Given the description of an element on the screen output the (x, y) to click on. 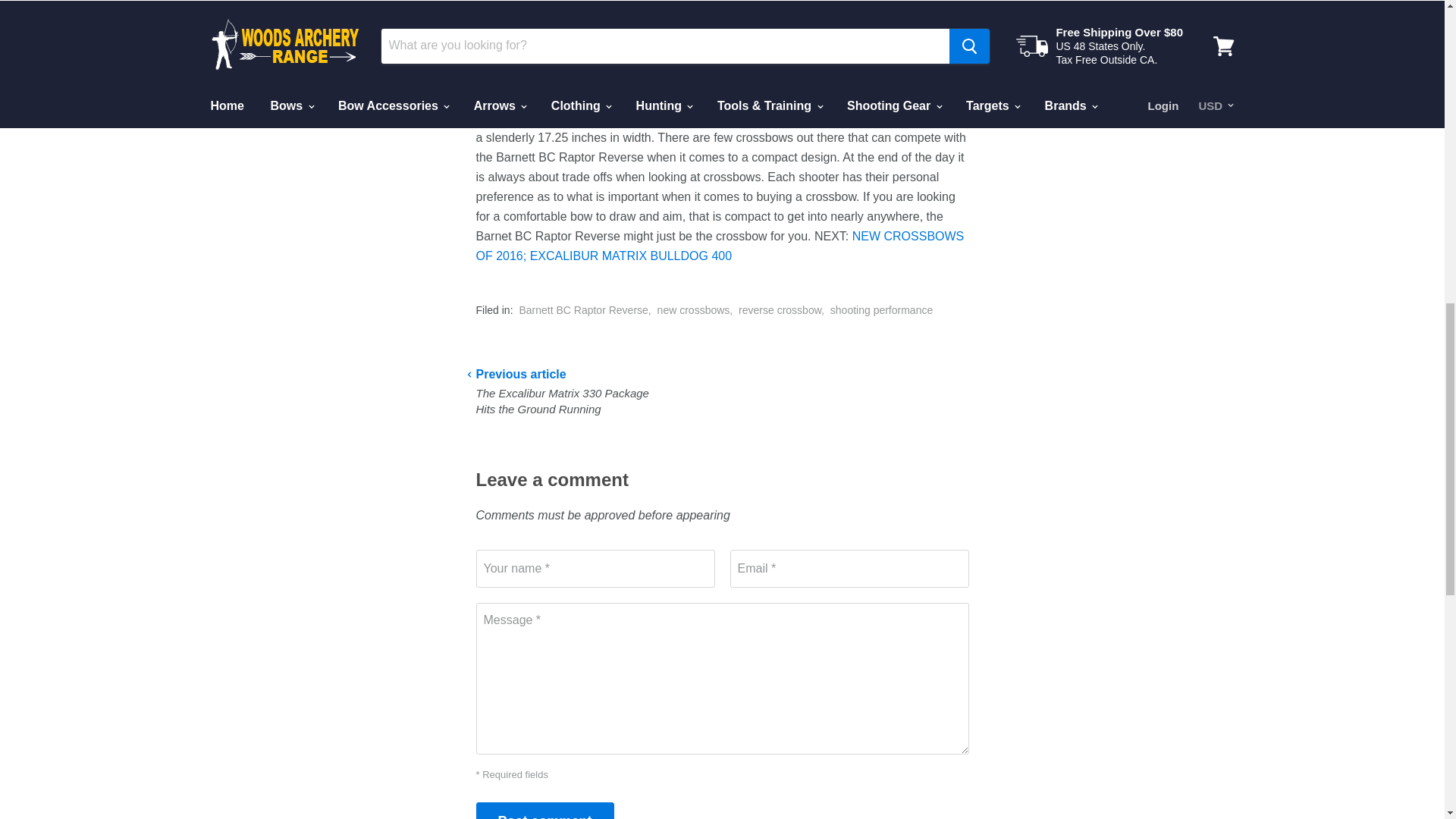
Show articles tagged Barnett BC Raptor Reverse (582, 309)
Show articles tagged new crossbows (694, 309)
Show articles tagged reverse crossbow (779, 309)
Show articles tagged shooting performance (881, 309)
